Given the description of an element on the screen output the (x, y) to click on. 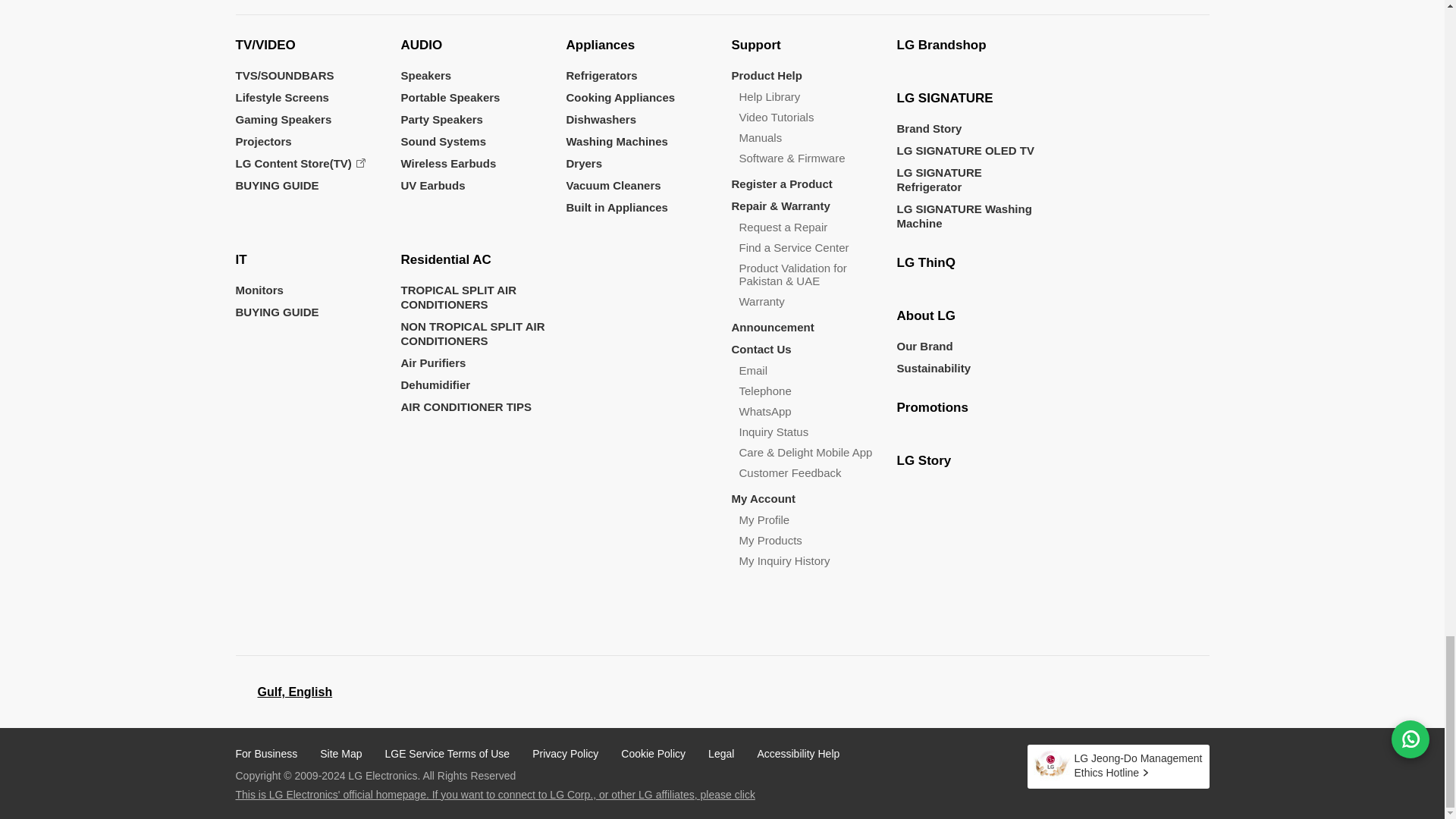
Opens in a new window (295, 691)
Opens in a new window (282, 689)
Opens in a new window (299, 163)
Opens in a new window (1065, 691)
